Given the description of an element on the screen output the (x, y) to click on. 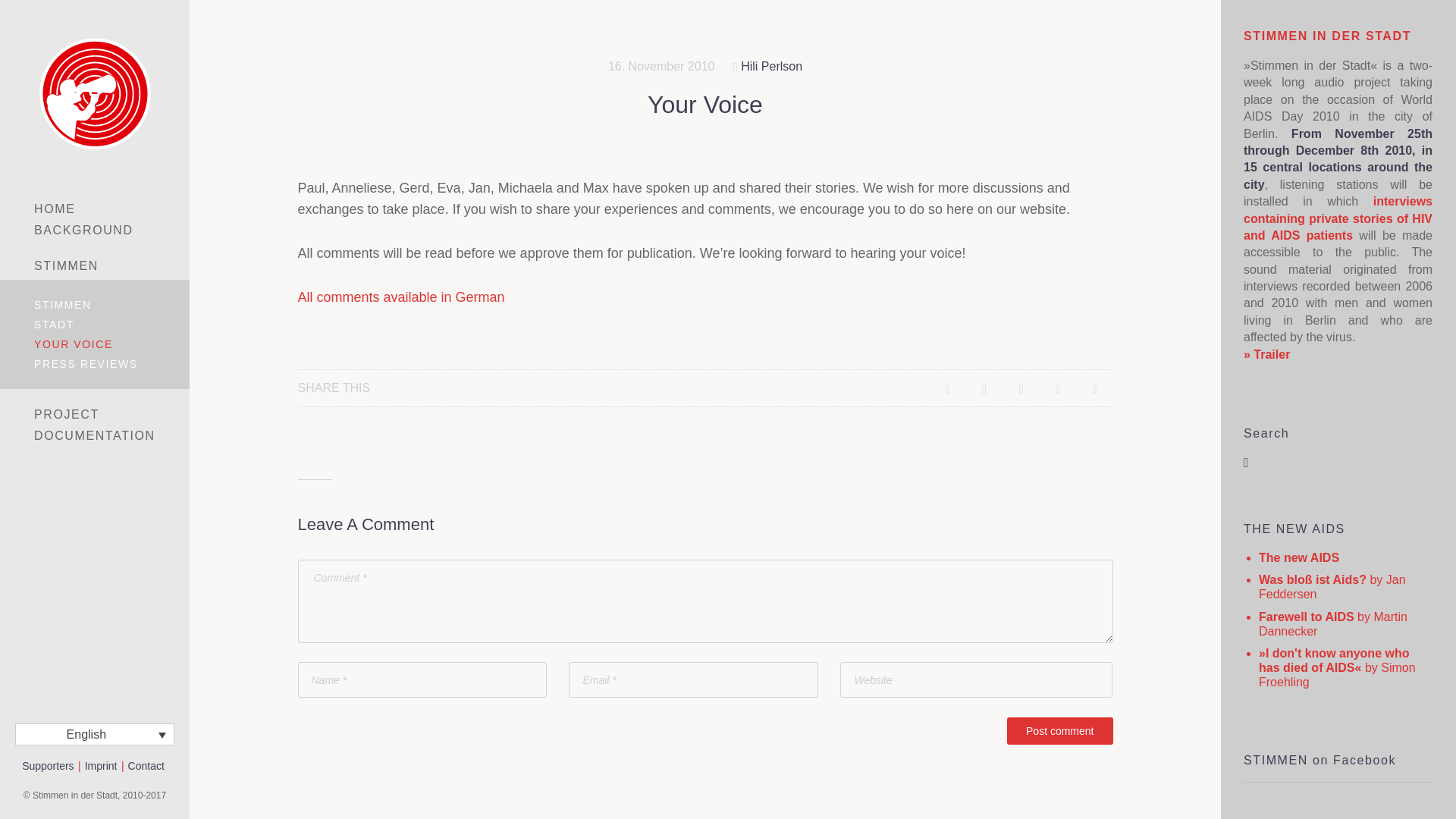
All comments available in German (400, 296)
Imprint (100, 766)
Supporters (47, 766)
Twitter (1057, 388)
BACKGROUND (94, 230)
facebook (1337, 800)
Post comment (1059, 730)
Stimmen in der Stadt (94, 93)
Hili Perlson (771, 65)
YOUR VOICE (94, 343)
